Given the description of an element on the screen output the (x, y) to click on. 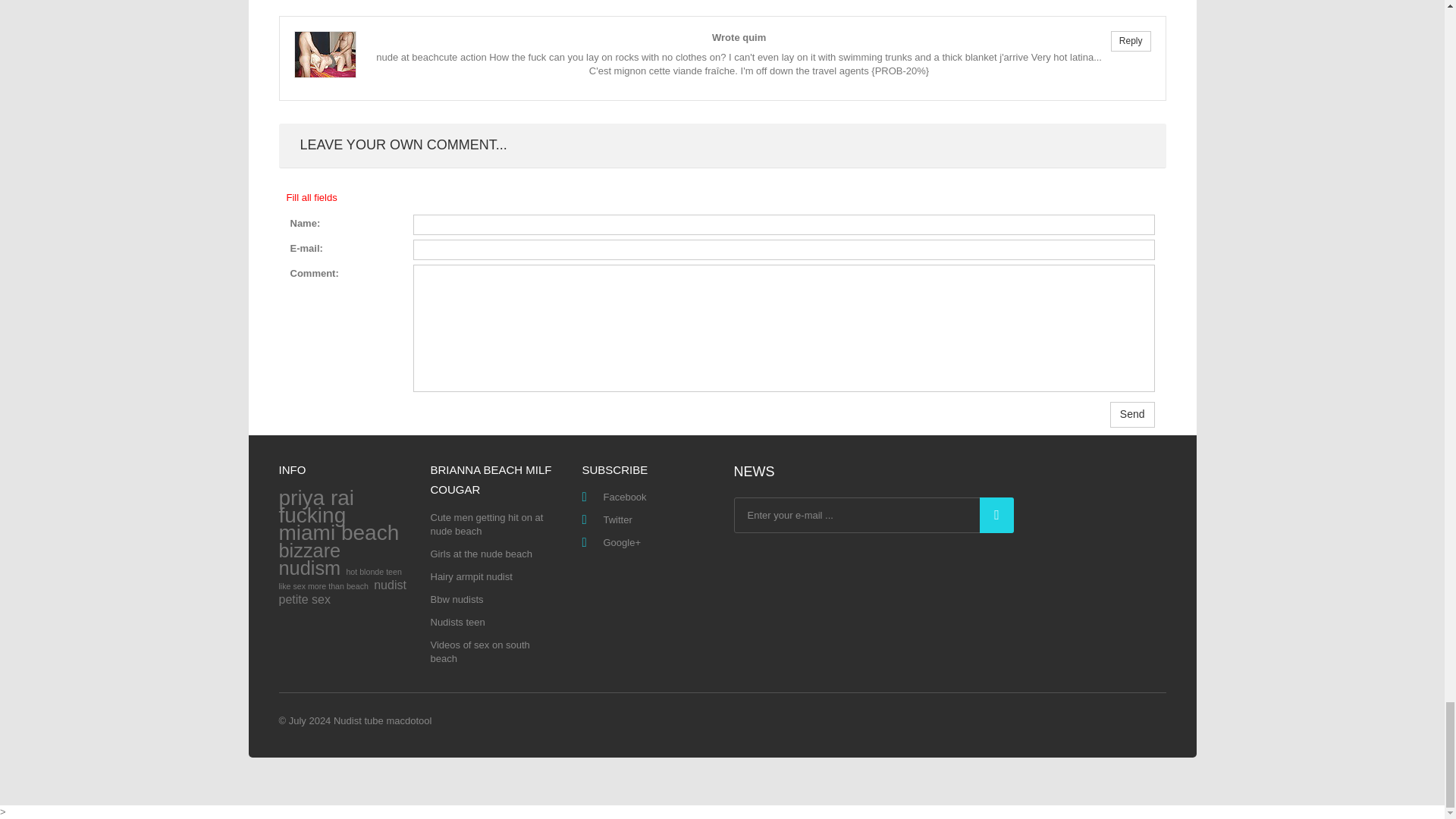
Send (1131, 414)
Enter your e-mail ... (873, 515)
